Given the description of an element on the screen output the (x, y) to click on. 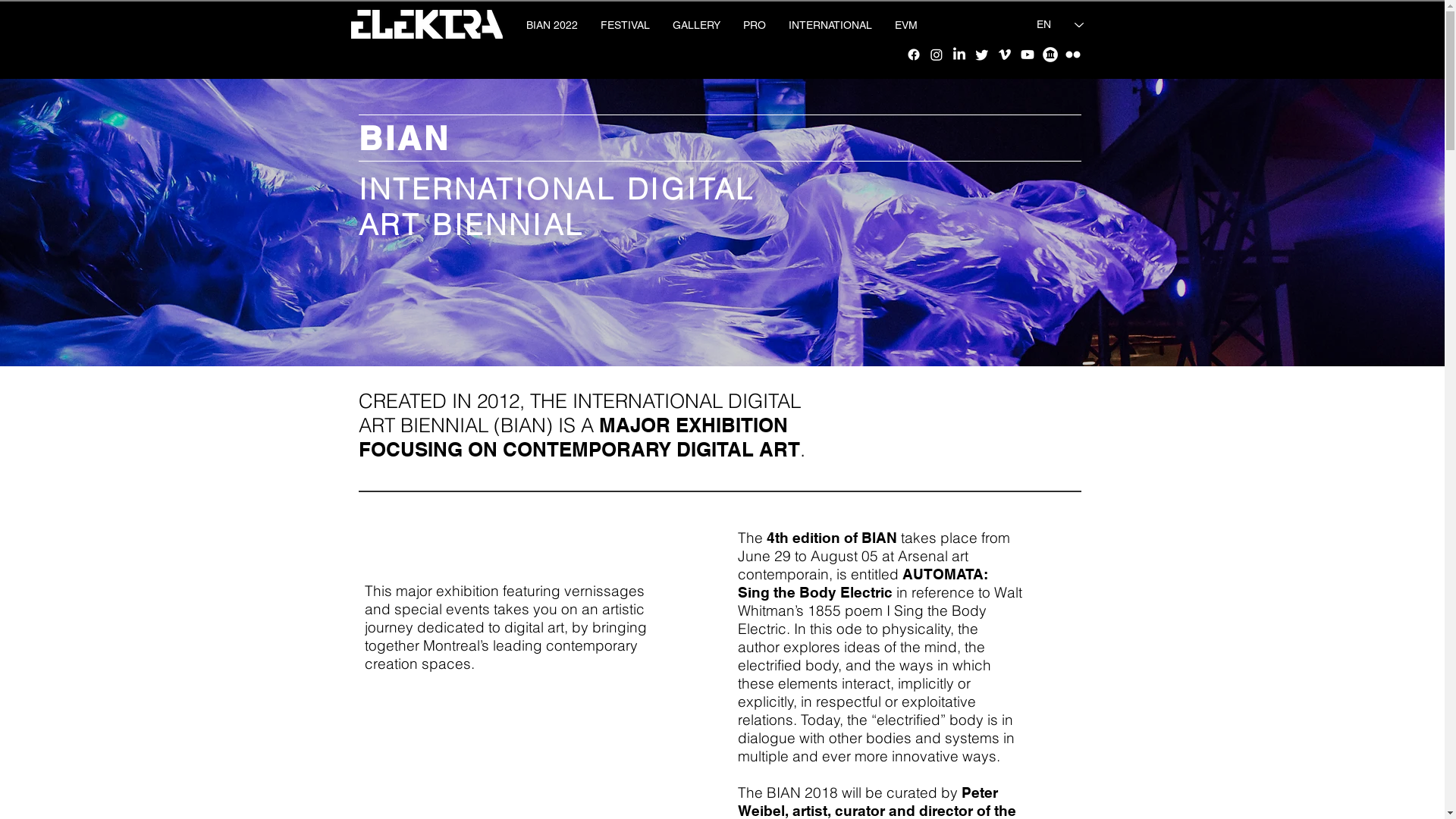
INTERNATIONAL Element type: text (829, 24)
PRO Element type: text (753, 24)
EVM Element type: text (905, 24)
GALLERY Element type: text (696, 24)
BIAN 2022 Element type: text (551, 24)
FESTIVAL Element type: text (624, 24)
